Given the description of an element on the screen output the (x, y) to click on. 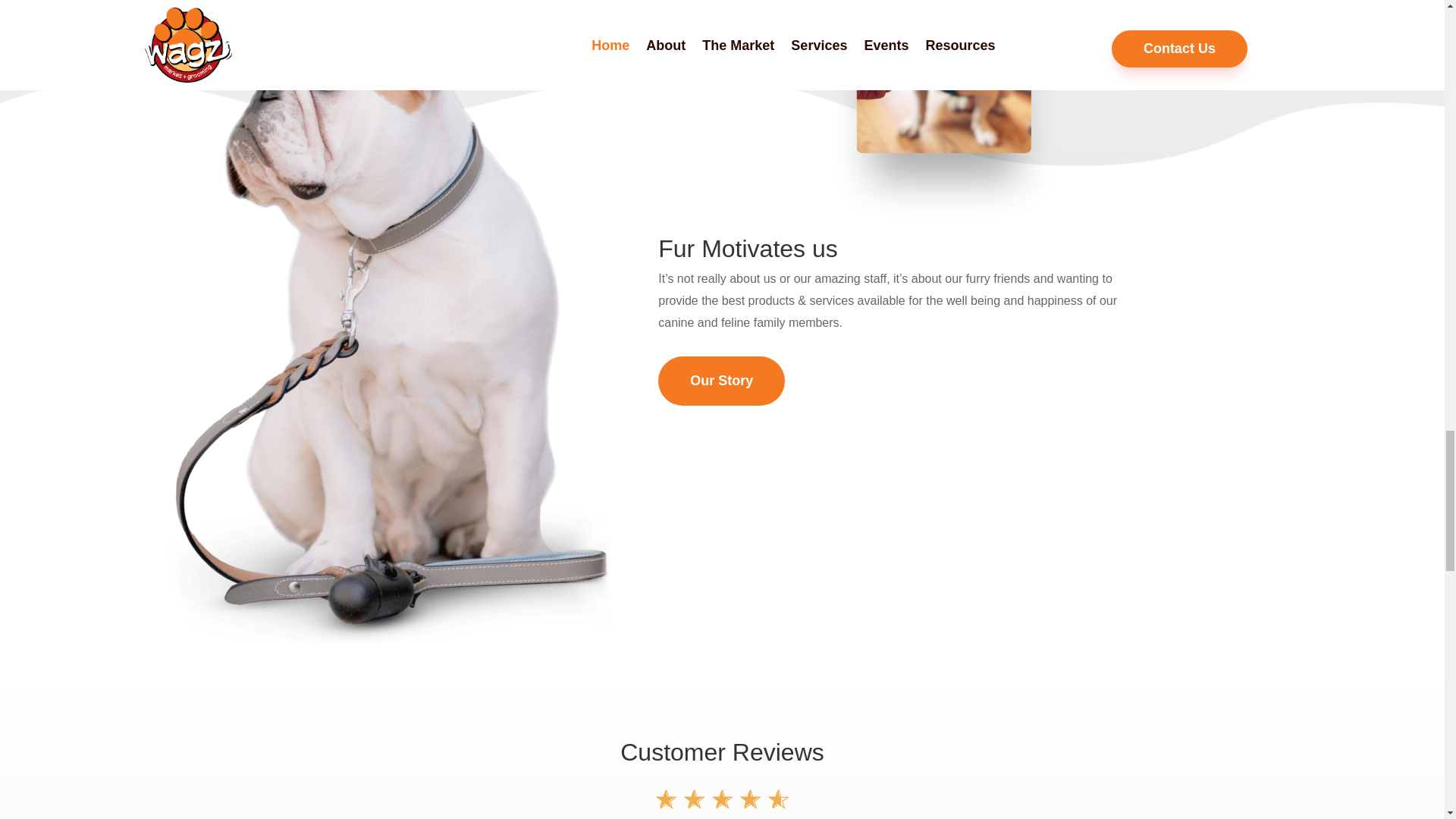
wagz-website-2023-047 (776, 64)
F8AA750A-9841-46B5-8B72-A1AC3C3DCD27 (978, 119)
Our Story (721, 380)
